Given the description of an element on the screen output the (x, y) to click on. 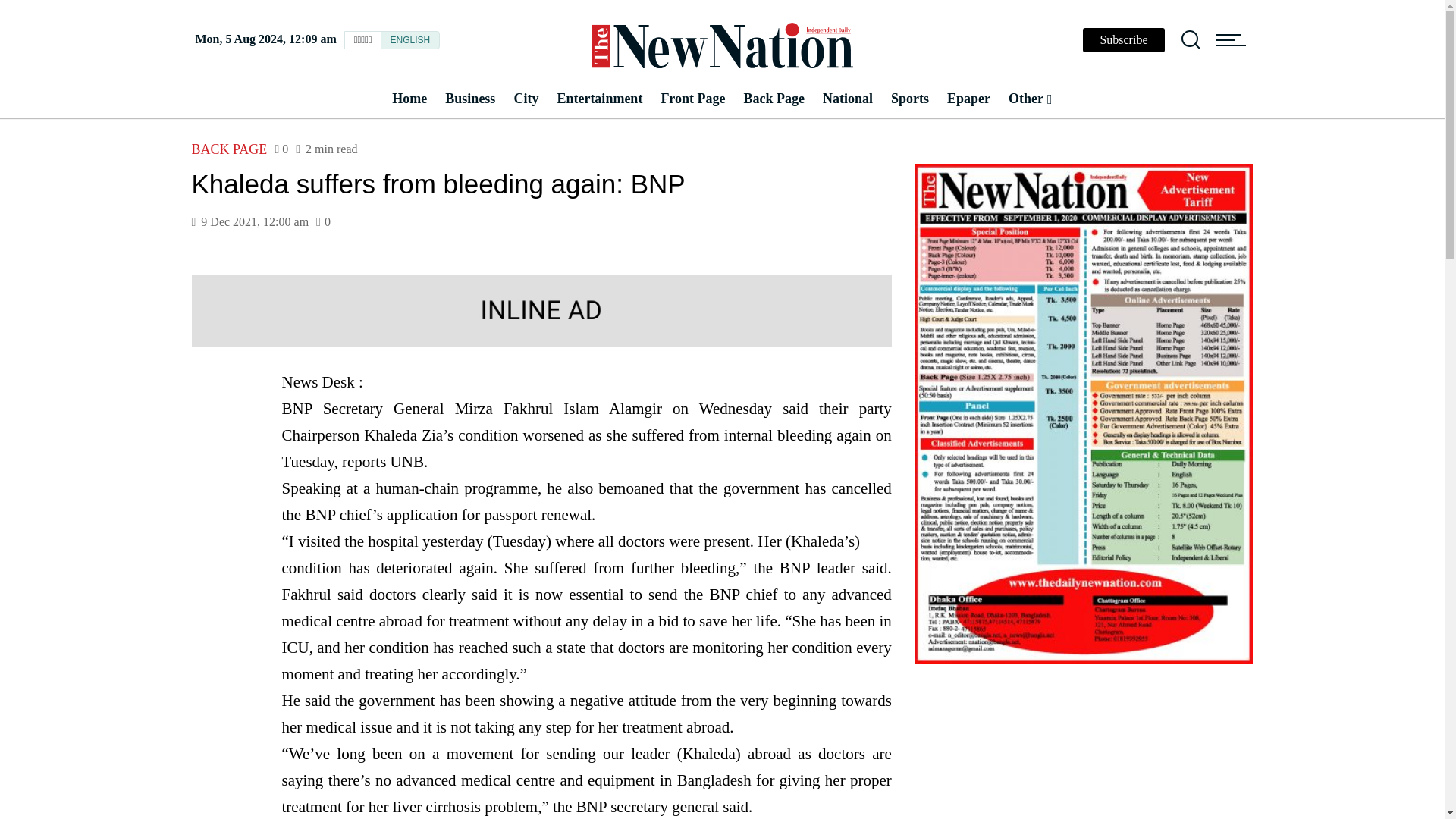
Subscribe (1123, 39)
National (847, 98)
0 (281, 148)
Back Page (774, 98)
0 (322, 222)
Front Page (691, 98)
BACK PAGE (228, 149)
Epaper (967, 98)
Home (408, 98)
Sports (909, 98)
Other (1029, 98)
City (525, 98)
Business (469, 98)
Entertainment (598, 98)
